Given the description of an element on the screen output the (x, y) to click on. 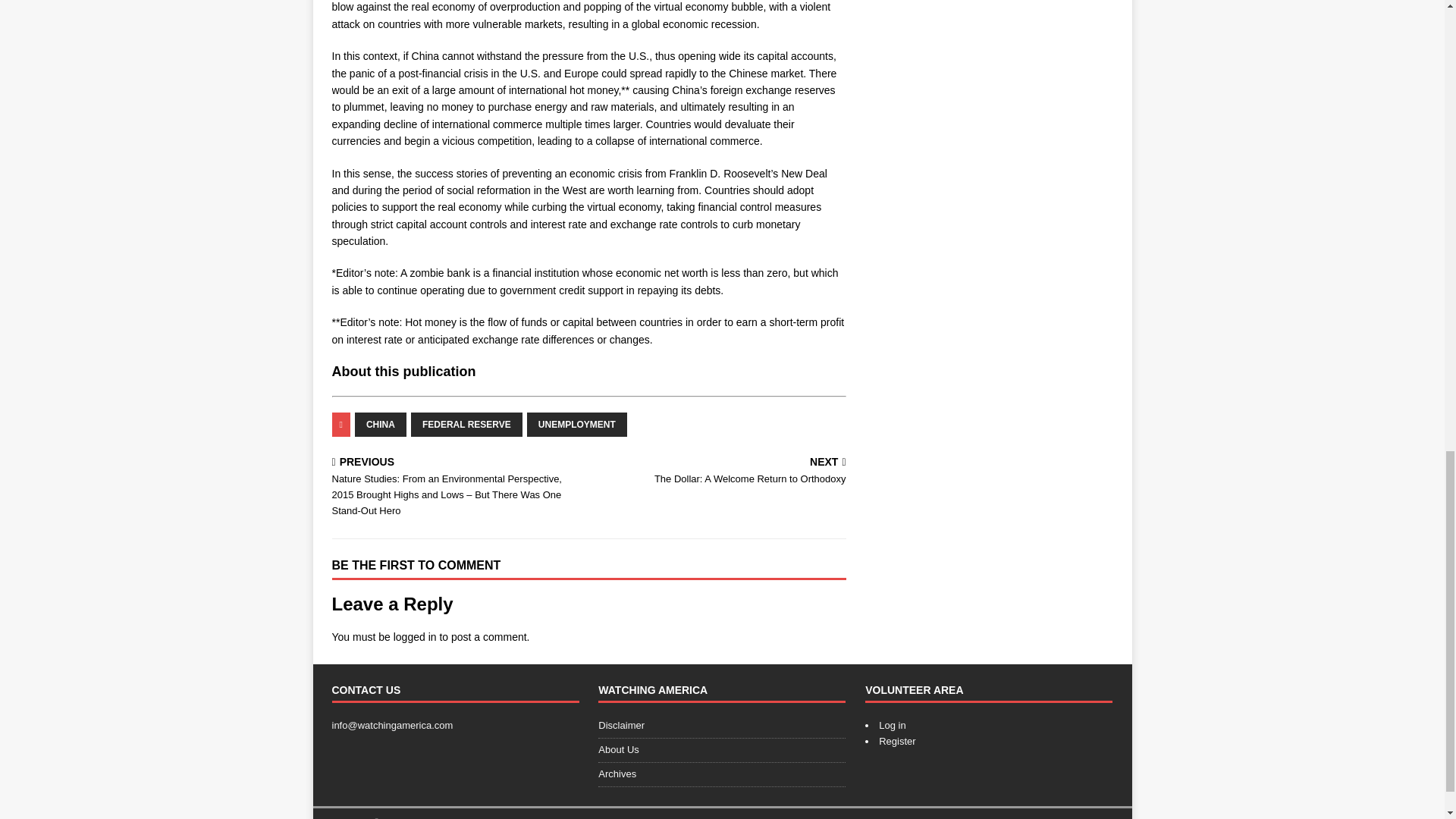
Register (897, 740)
Archives (721, 774)
logged in (414, 636)
UNEMPLOYMENT (720, 471)
About Us (577, 424)
FEDERAL RESERVE (721, 750)
Disclaimer (466, 424)
CHINA (721, 727)
Log in (380, 424)
